Given the description of an element on the screen output the (x, y) to click on. 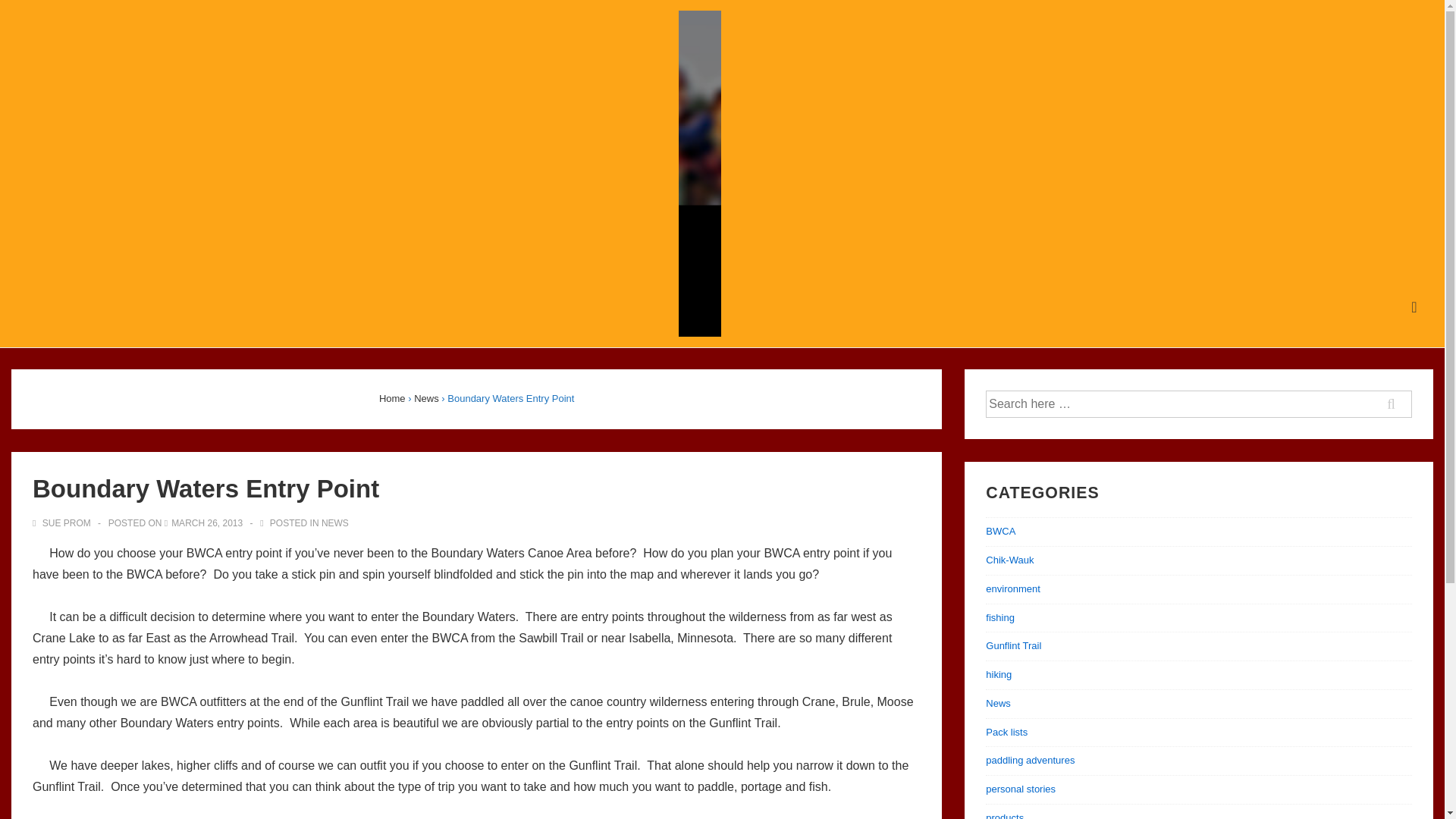
BWCA (999, 531)
News (997, 703)
MARCH 26, 2013 (207, 522)
Chik-Wauk (1009, 559)
paddling adventures (1029, 759)
Home (392, 398)
News (426, 398)
NEWS (335, 522)
View all posts by Sue Prom (62, 522)
Pack lists (1006, 731)
